Given the description of an element on the screen output the (x, y) to click on. 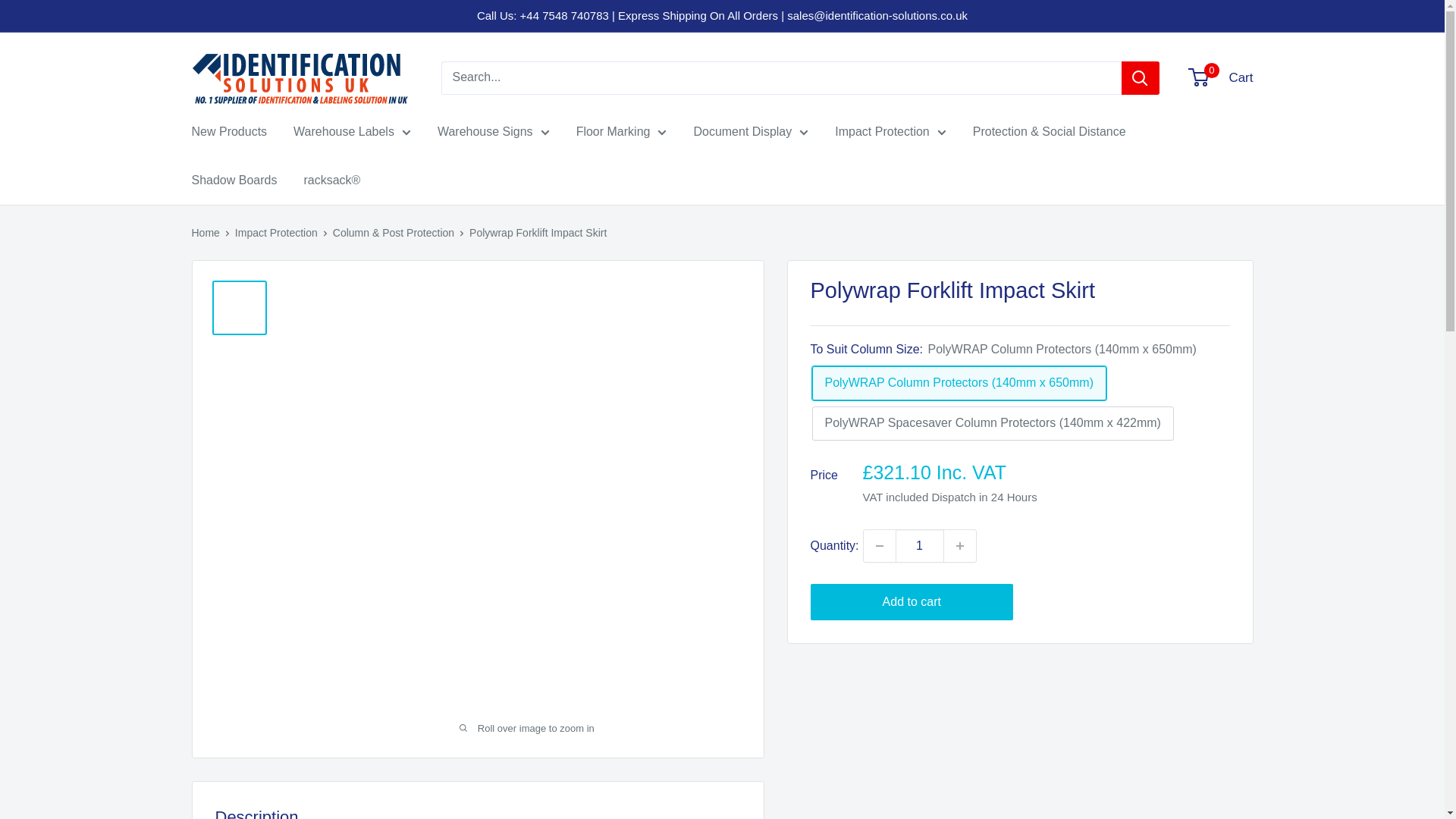
1 (919, 545)
Increase quantity by 1 (959, 545)
Decrease quantity by 1 (879, 545)
